Given the description of an element on the screen output the (x, y) to click on. 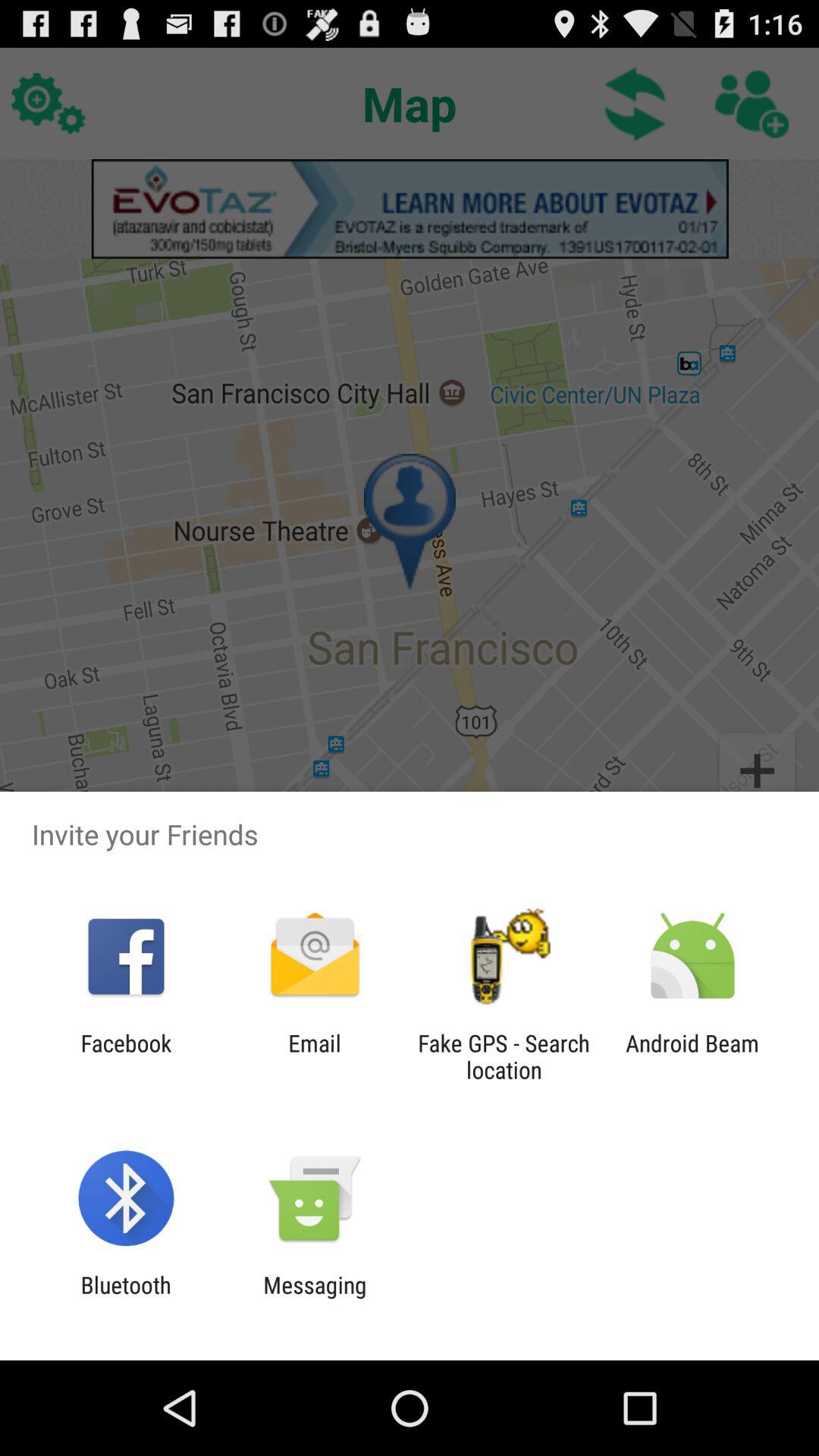
turn on the item to the right of fake gps search item (692, 1056)
